Given the description of an element on the screen output the (x, y) to click on. 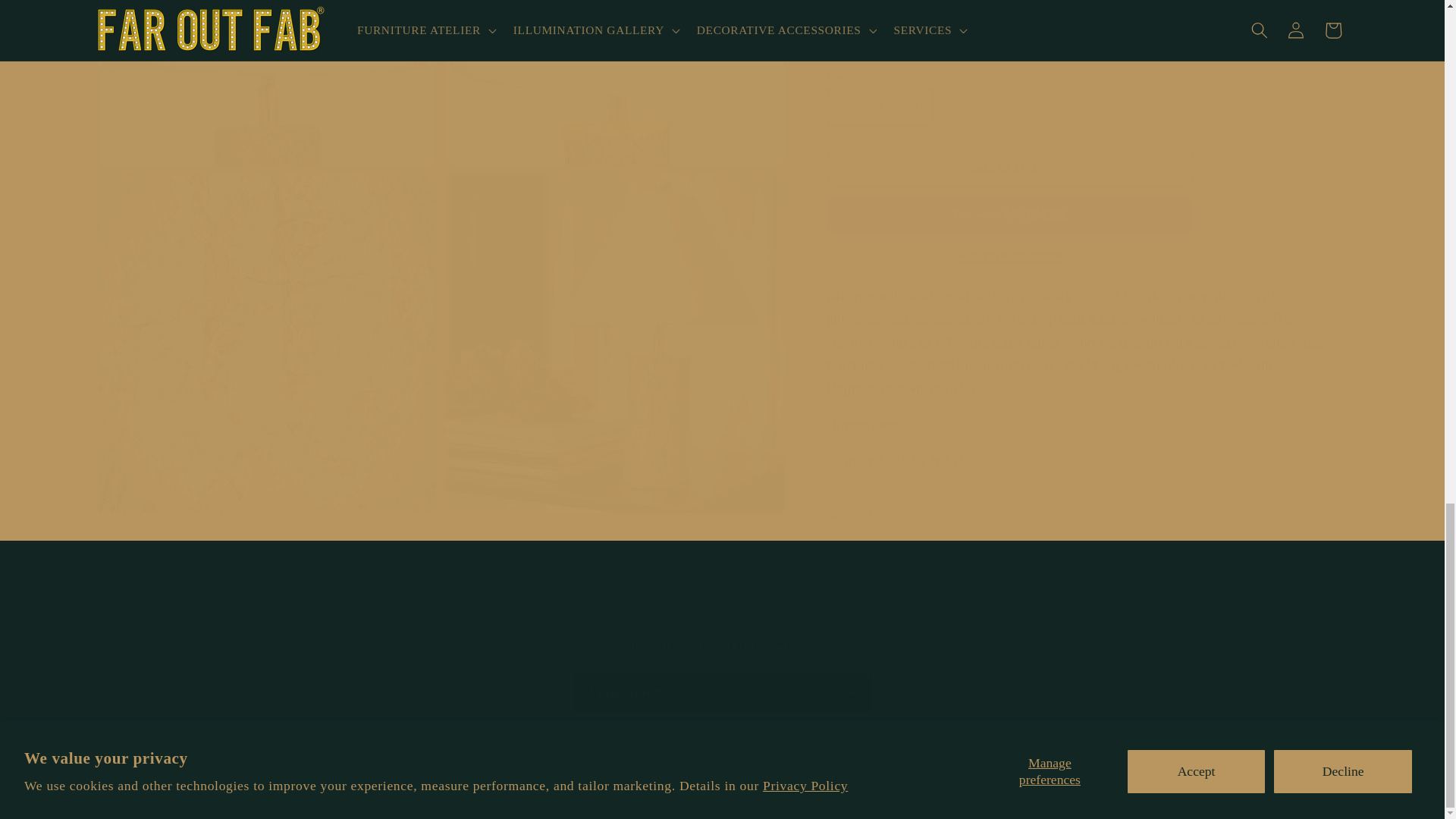
ABOUT CONTACT PRIVACY RETURN POLICY STORIES TERMS (722, 598)
Open media 7 in modal (722, 674)
Open media 4 in modal (614, 327)
Open media 5 in modal (266, 74)
Open media 6 in modal (614, 74)
ABOUT CONTACT PRIVACY RETURN POLICY STORIES TERMS (266, 327)
